Given the description of an element on the screen output the (x, y) to click on. 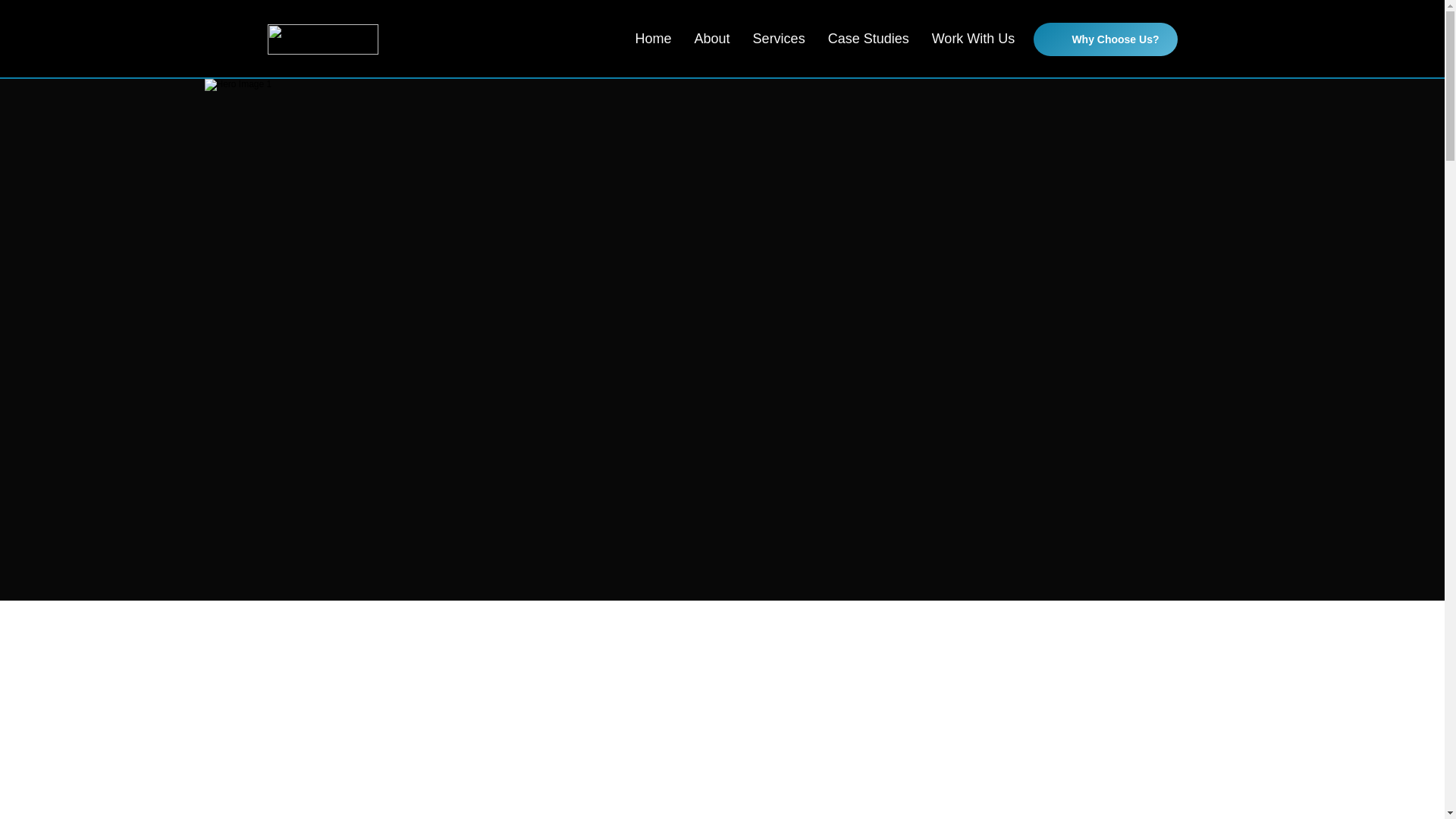
Why Choose Us? (1104, 39)
Work With Us (972, 38)
Case Studies (868, 38)
Services (778, 38)
About (712, 38)
Home (652, 38)
